Given the description of an element on the screen output the (x, y) to click on. 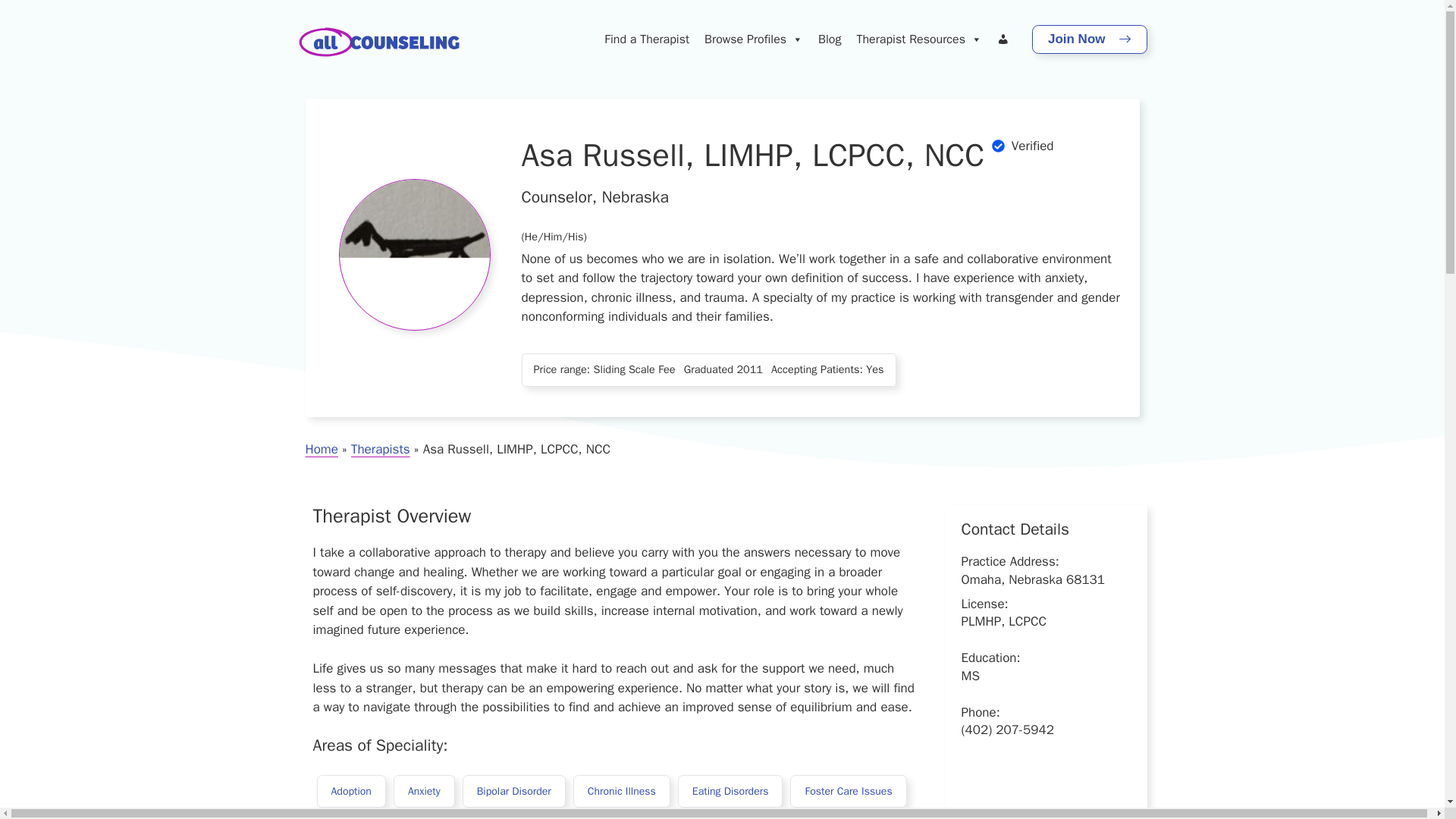
Join Now (1089, 39)
A Verified Profile (1018, 155)
Asa Russell, LIMHP, LCPCC, NCC (413, 254)
Browse Profiles (753, 39)
Find a Therapist (646, 39)
Therapist Resources (918, 39)
